Given the description of an element on the screen output the (x, y) to click on. 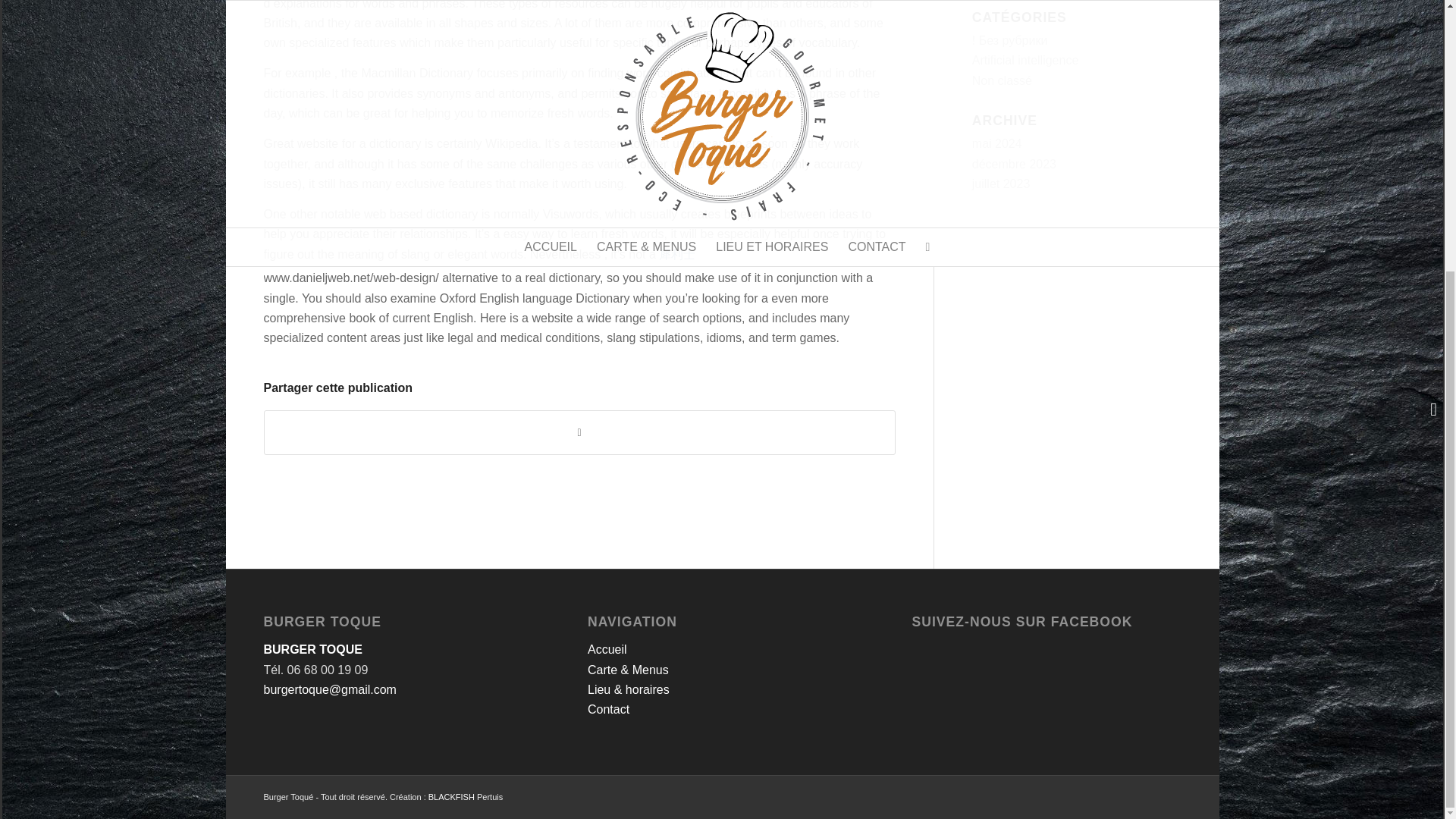
Contact (608, 708)
Accueil (607, 649)
BLACKFISH (450, 796)
